Given the description of an element on the screen output the (x, y) to click on. 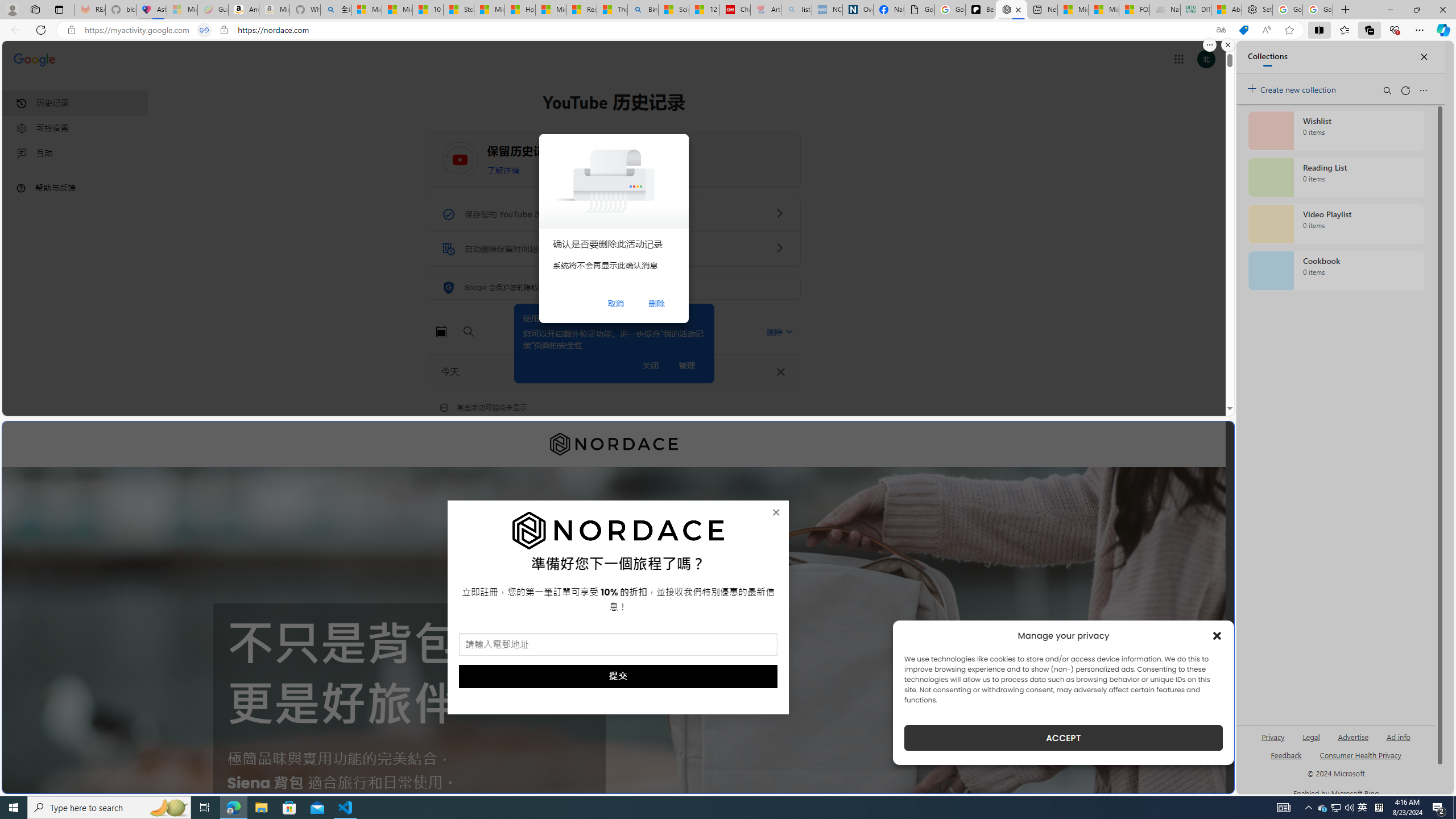
AutomationID: input_5_1 (617, 644)
AutomationID: sb_feedback (1286, 754)
This site has coupons! Shopping in Microsoft Edge (1243, 29)
12 Popular Science Lies that Must be Corrected (704, 9)
